Given the description of an element on the screen output the (x, y) to click on. 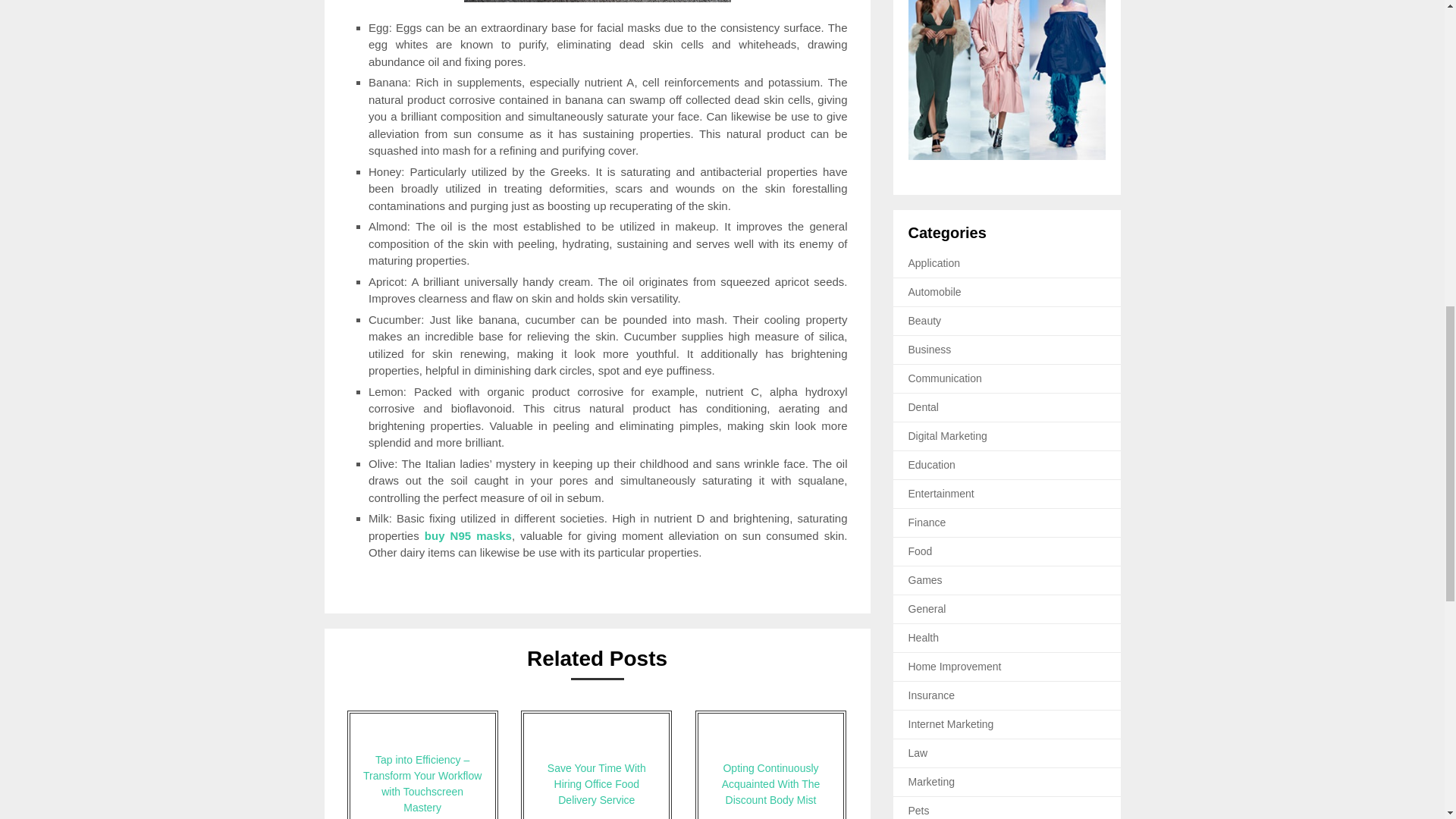
Communication (944, 378)
Save Your Time With Hiring Office Food Delivery Service (596, 764)
Pets (919, 810)
Automobile (934, 291)
Save Your Time With Hiring Office Food Delivery Service (596, 764)
Digital Marketing (947, 435)
Business (930, 349)
Opting Continuously Acquainted With The Discount Body Mist (770, 764)
Application (934, 263)
Law (918, 752)
Beauty (925, 320)
Opting Continuously Acquainted With The Discount Body Mist (770, 764)
Insurance (931, 695)
Games (925, 580)
Dental (923, 407)
